Given the description of an element on the screen output the (x, y) to click on. 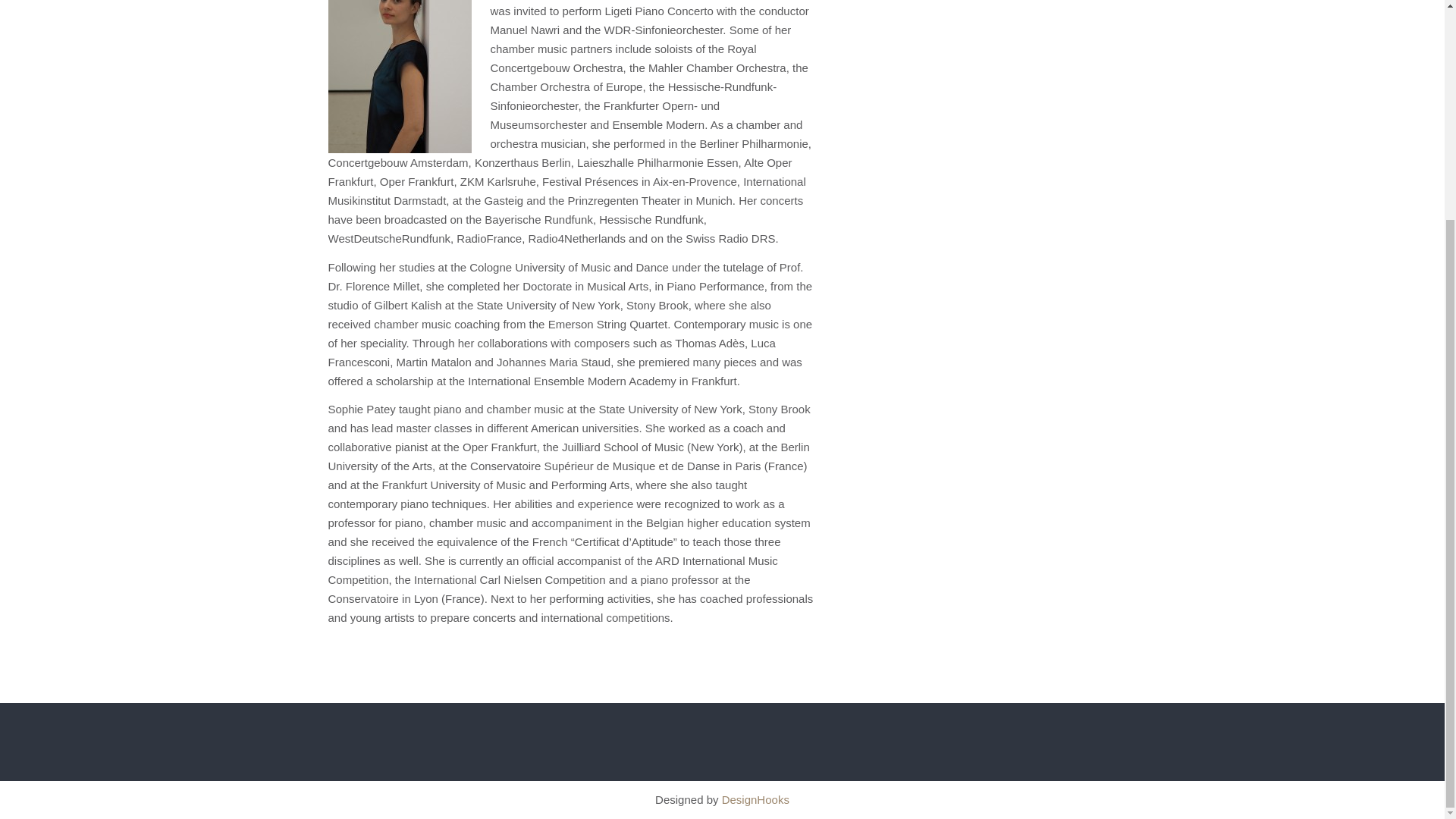
DesignHooks (755, 799)
